Given the description of an element on the screen output the (x, y) to click on. 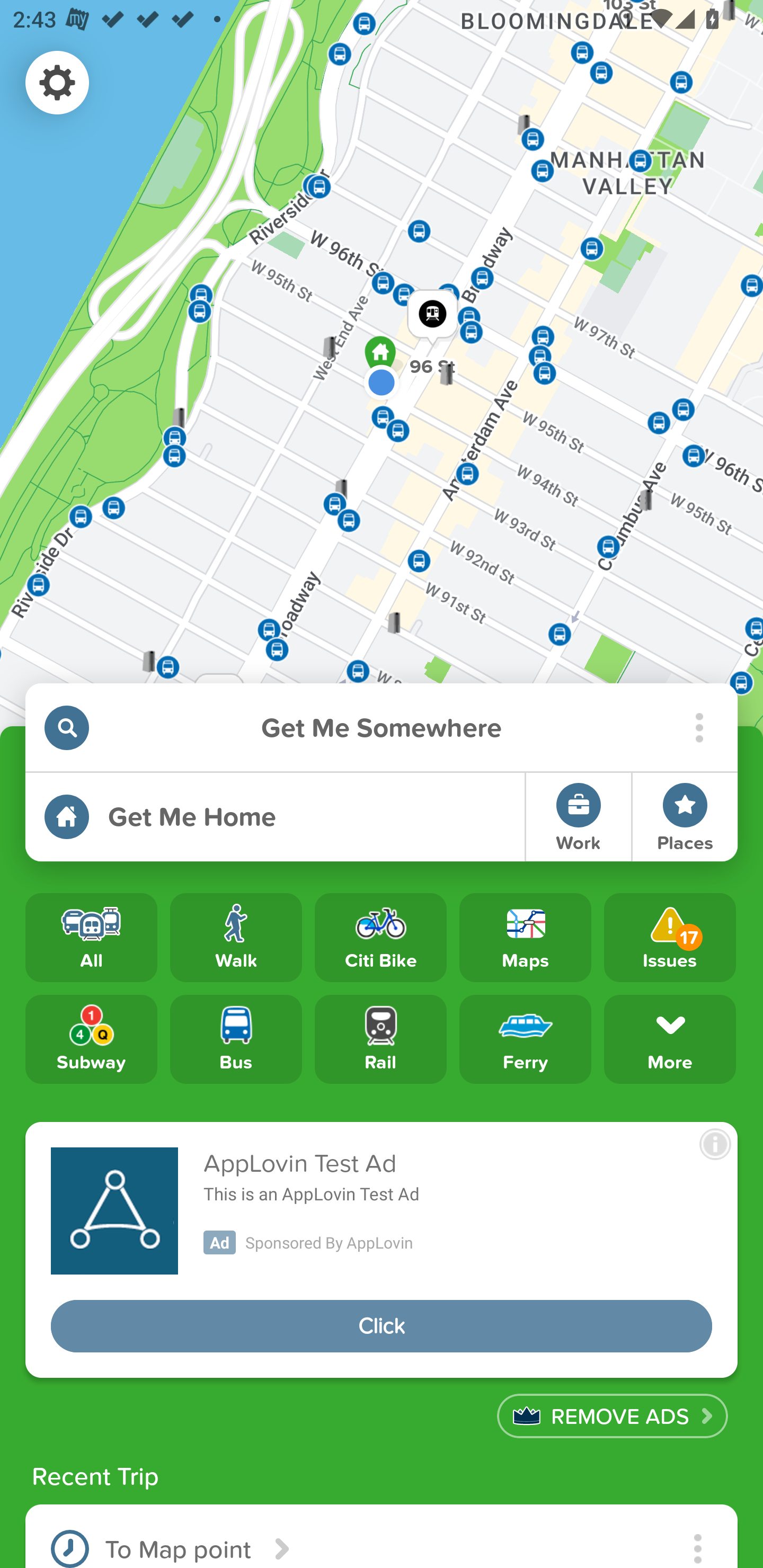
Bus (236, 1038)
